Given the description of an element on the screen output the (x, y) to click on. 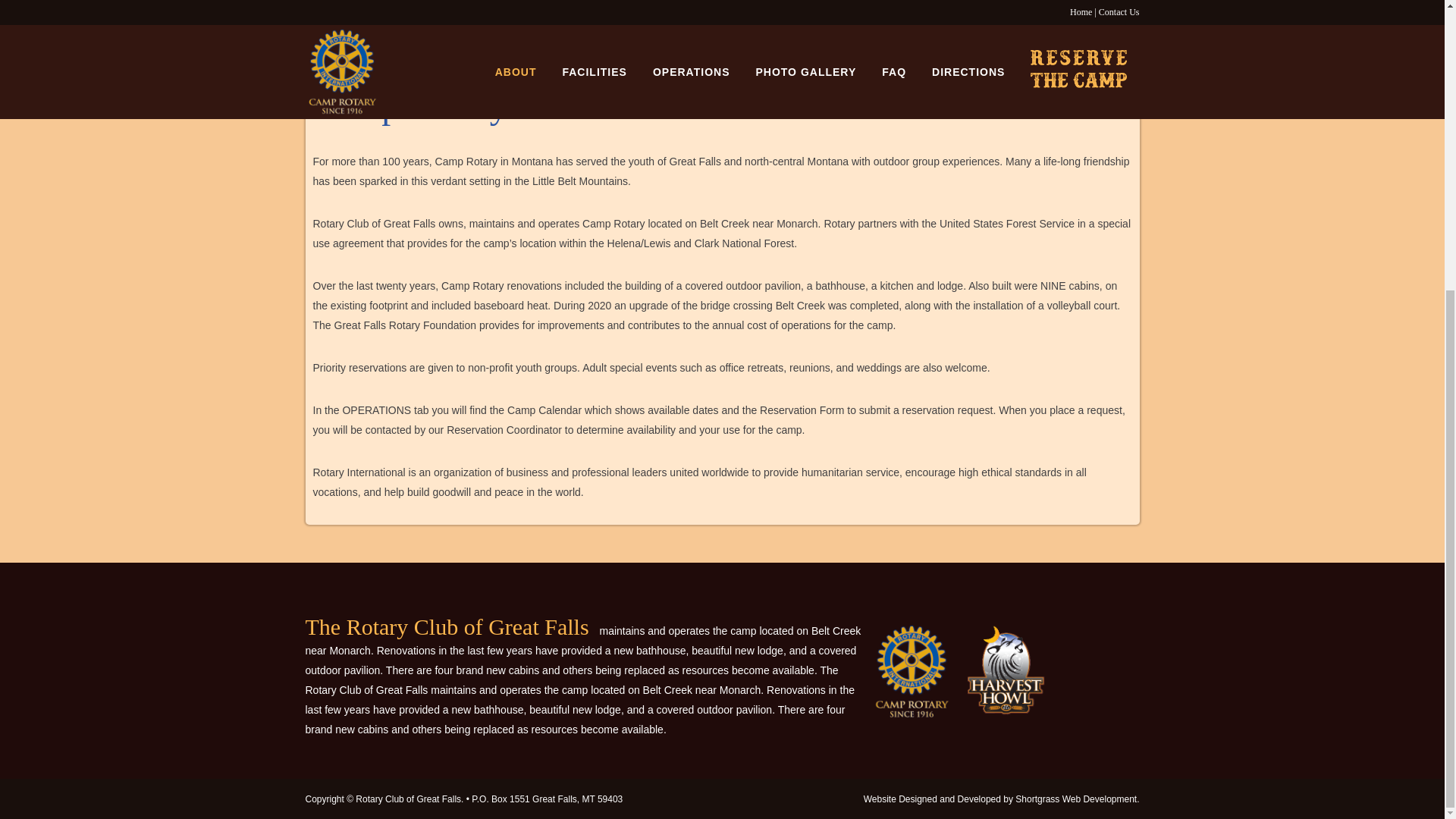
Shortgrass Web Development. (1076, 798)
